Given the description of an element on the screen output the (x, y) to click on. 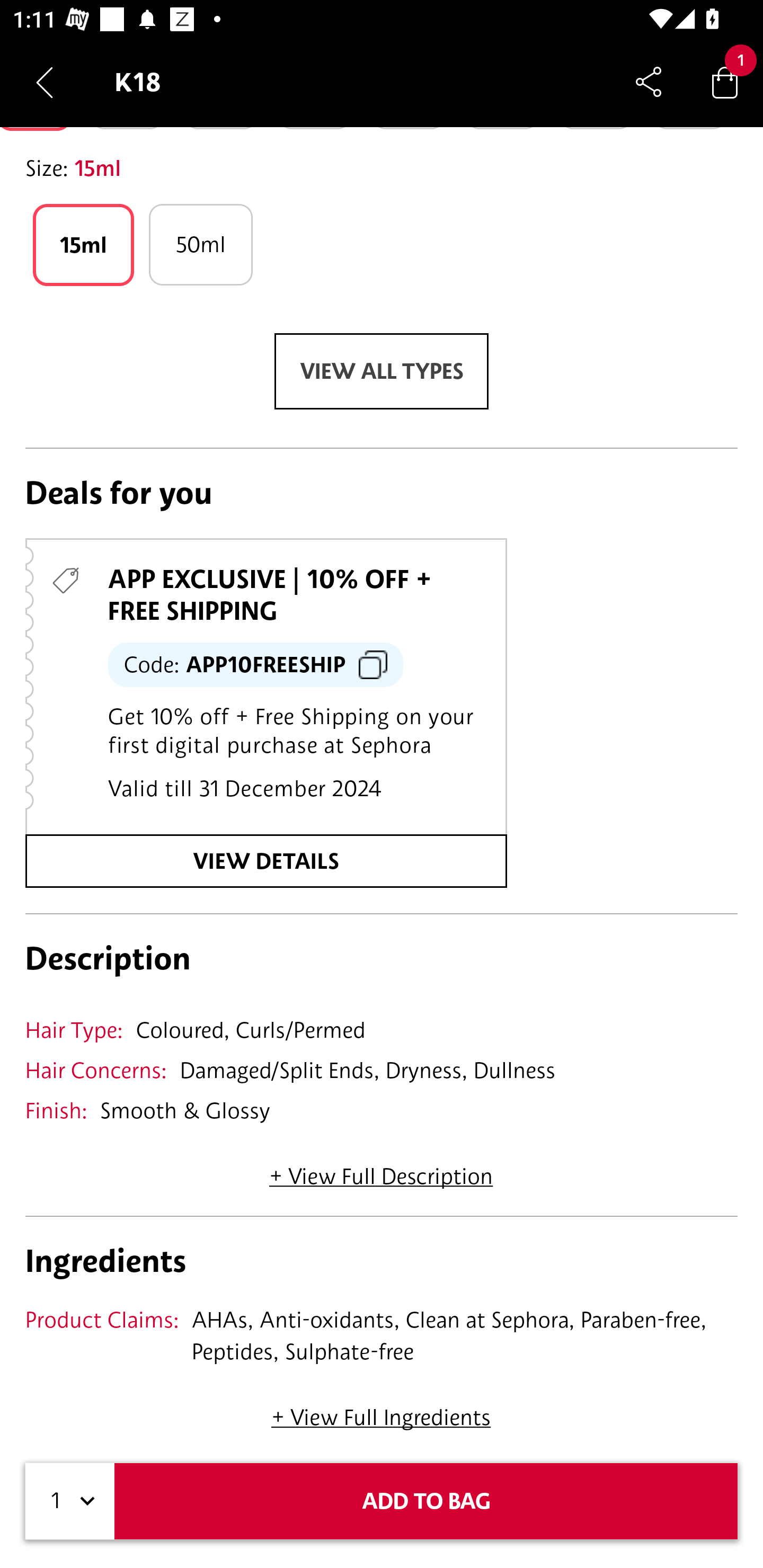
Navigate up (44, 82)
Share (648, 81)
Bag (724, 81)
15ml (83, 244)
50ml (200, 244)
VIEW ALL TYPES (381, 370)
VIEW DETAILS (266, 860)
+ View Full Description (380, 1169)
+ View Full Ingredients (380, 1410)
1 (69, 1500)
ADD TO BAG (425, 1500)
